Given the description of an element on the screen output the (x, y) to click on. 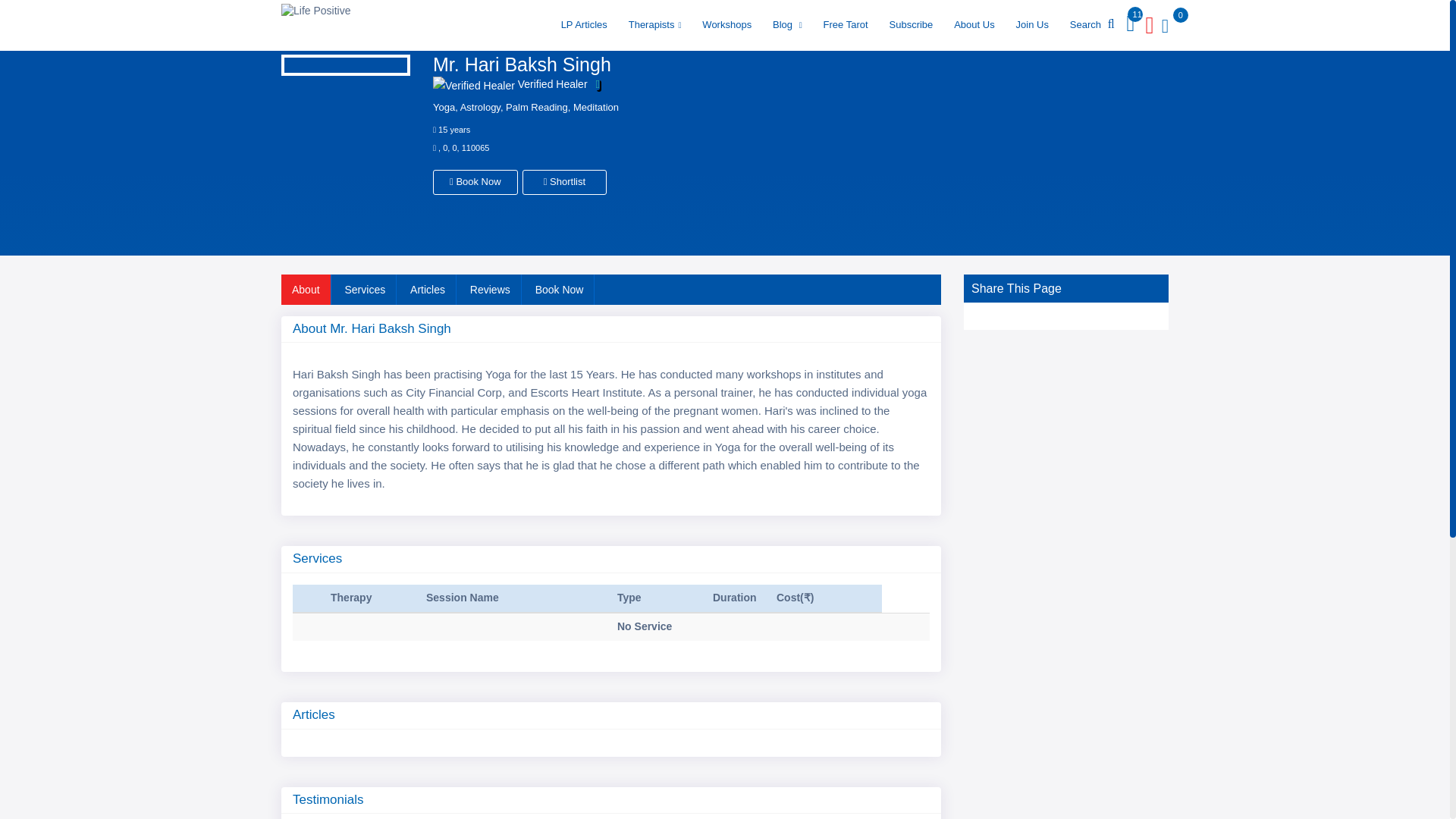
Join Us (1032, 24)
Workshops (726, 24)
About Us (973, 24)
Therapists (655, 24)
Free Tarot (845, 24)
Blog (786, 24)
Search (1092, 24)
Subscribe (910, 24)
LP Articles (583, 24)
